Given the description of an element on the screen output the (x, y) to click on. 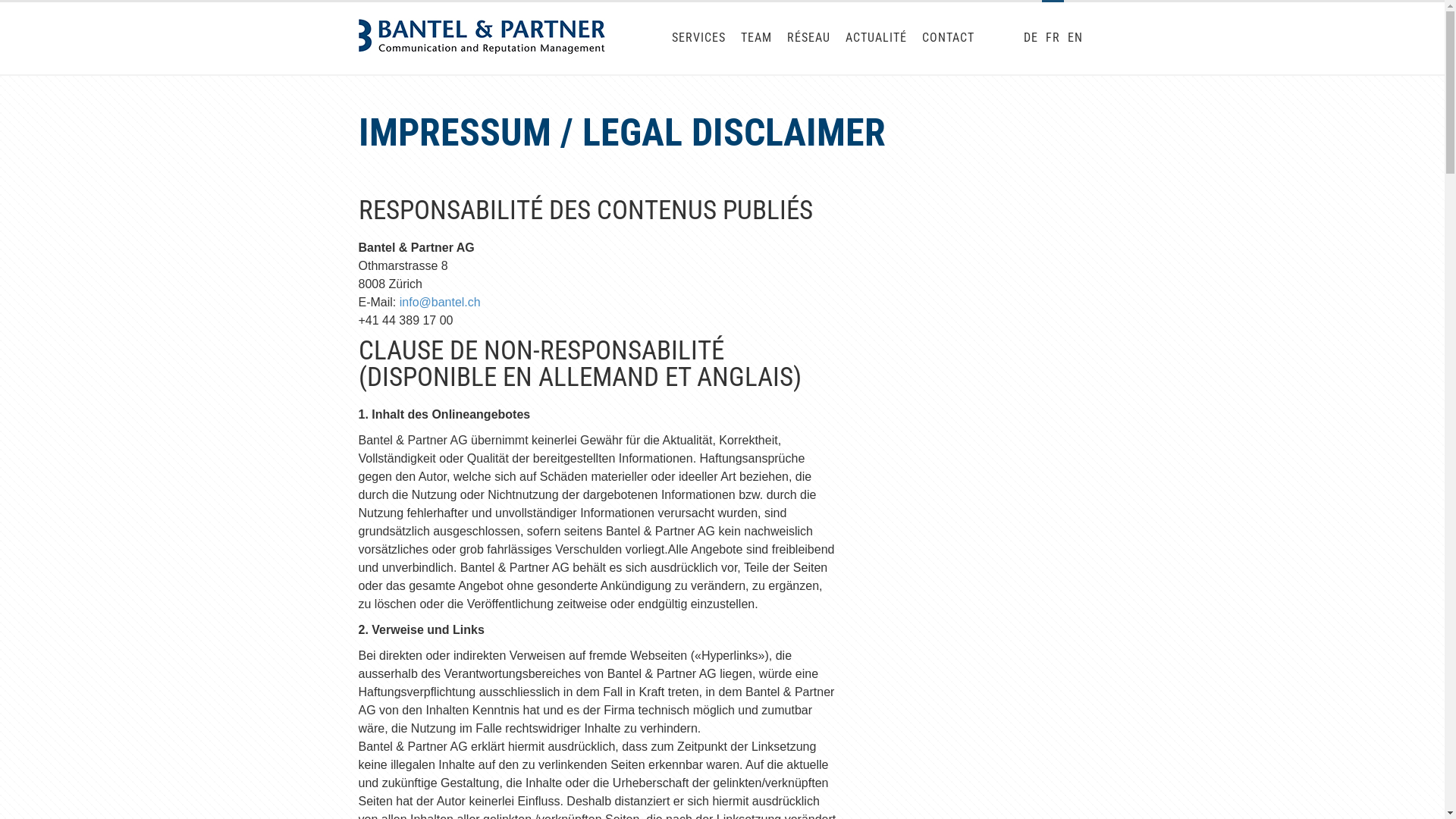
CONTACT Element type: text (948, 37)
info@bantel.ch Element type: text (439, 301)
SERVICES Element type: text (698, 37)
TEAM Element type: text (755, 37)
EN Element type: text (1074, 37)
DE Element type: text (1030, 37)
FR Element type: text (1052, 37)
